Given the description of an element on the screen output the (x, y) to click on. 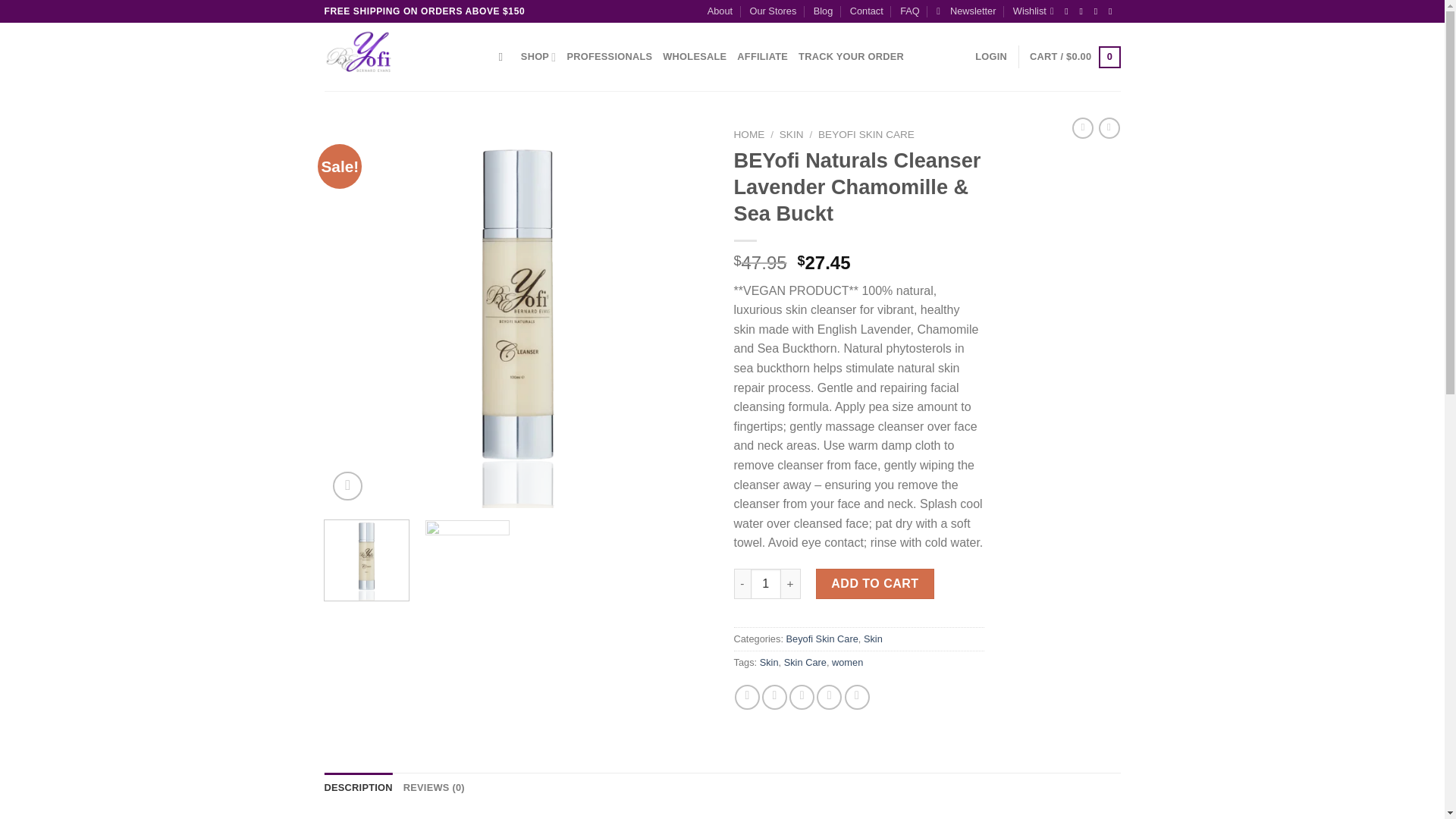
Newsletter (965, 11)
SHOP (538, 56)
Our Stores (772, 11)
Contact (866, 11)
LOGIN (991, 56)
WHOLESALE (694, 56)
1 (765, 583)
AFFILIATE (761, 56)
Share on Facebook (747, 697)
Wishlist (1033, 11)
TRACK YOUR ORDER (850, 56)
PROFESSIONALS (609, 56)
Cart (1074, 57)
Zoom (347, 486)
About (719, 11)
